Given the description of an element on the screen output the (x, y) to click on. 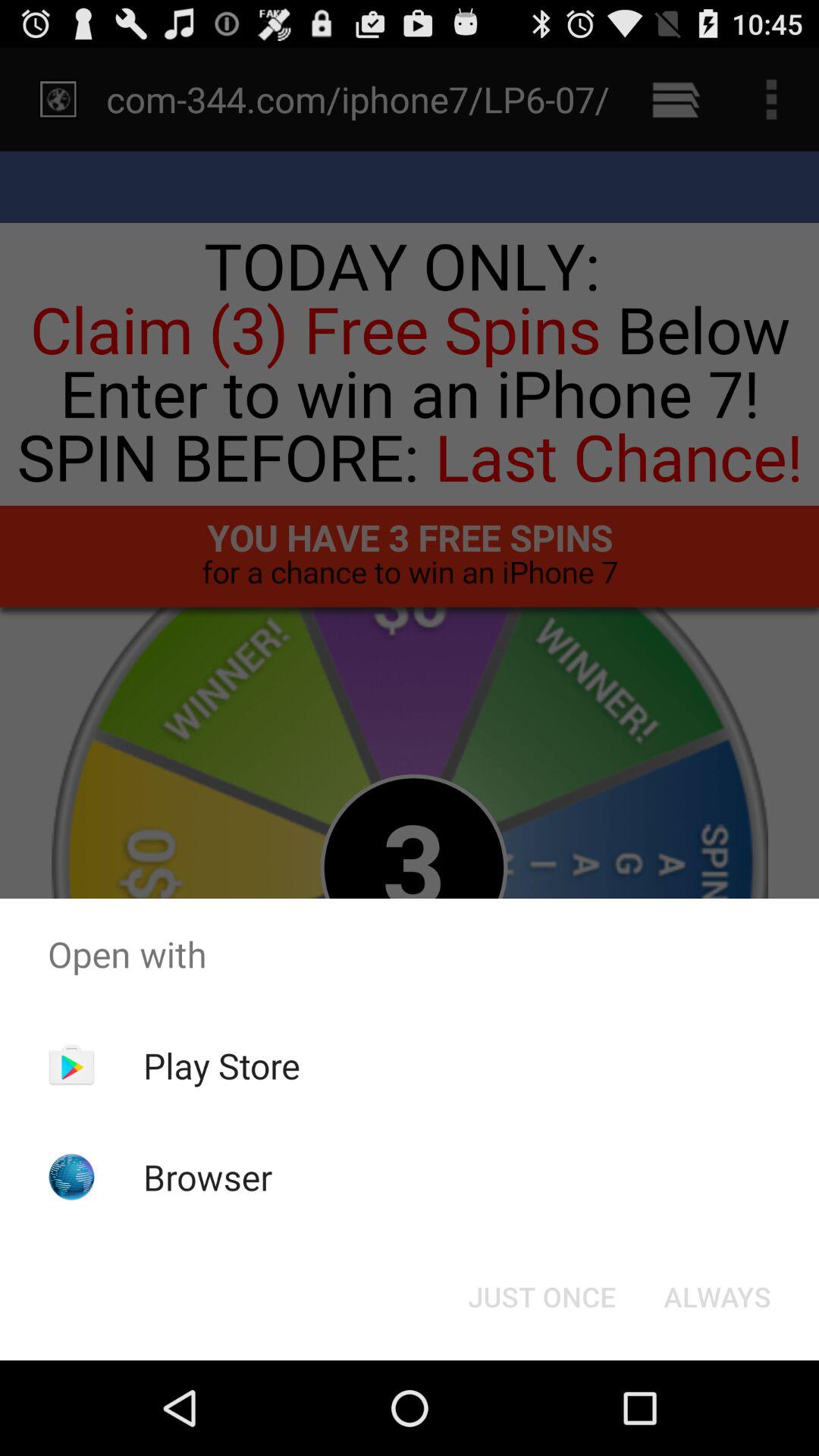
turn on button next to just once icon (717, 1296)
